Given the description of an element on the screen output the (x, y) to click on. 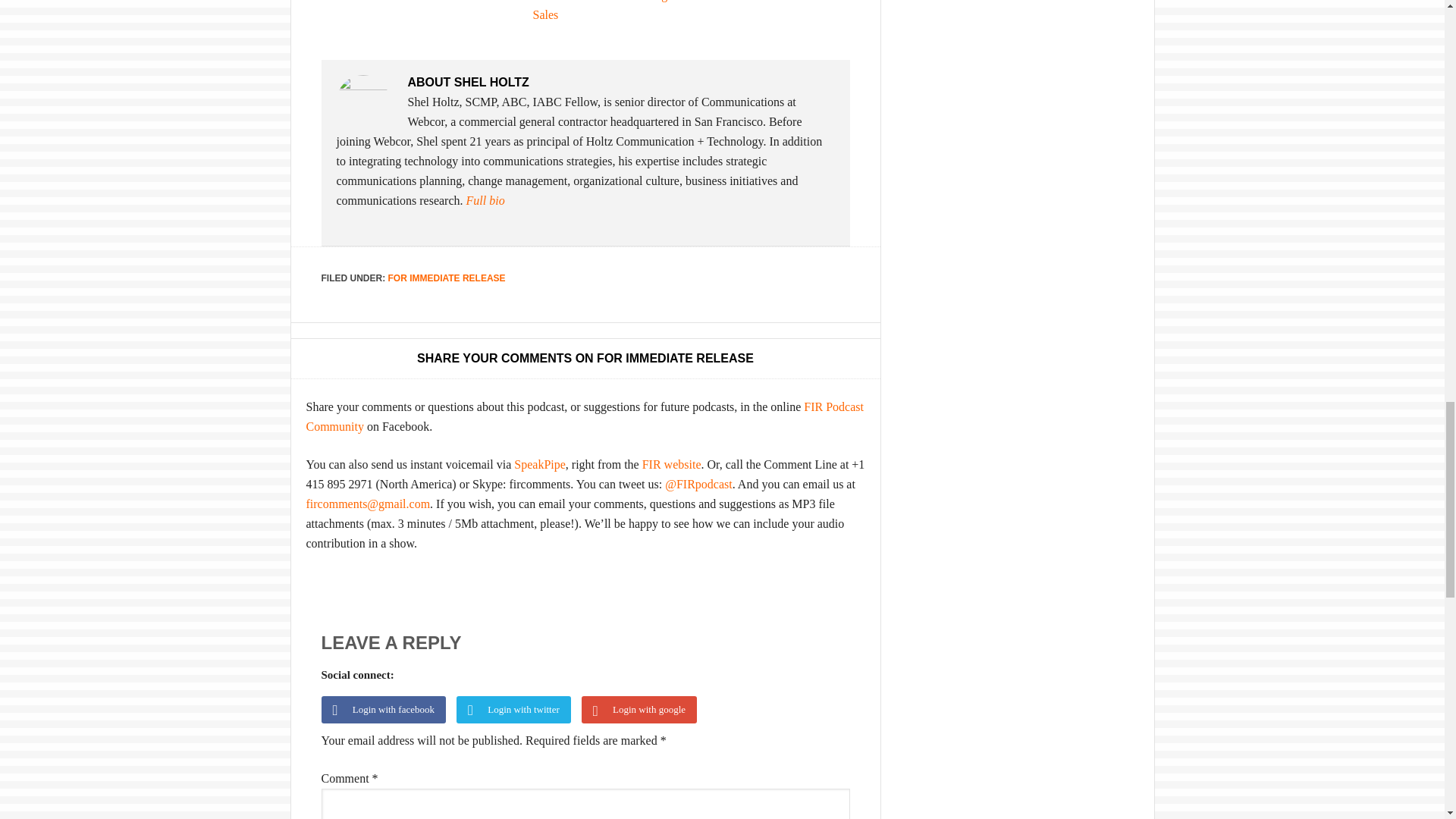
Full bio (485, 200)
Login with twitter (518, 711)
Login with facebook (389, 711)
Login with google (642, 711)
